Given the description of an element on the screen output the (x, y) to click on. 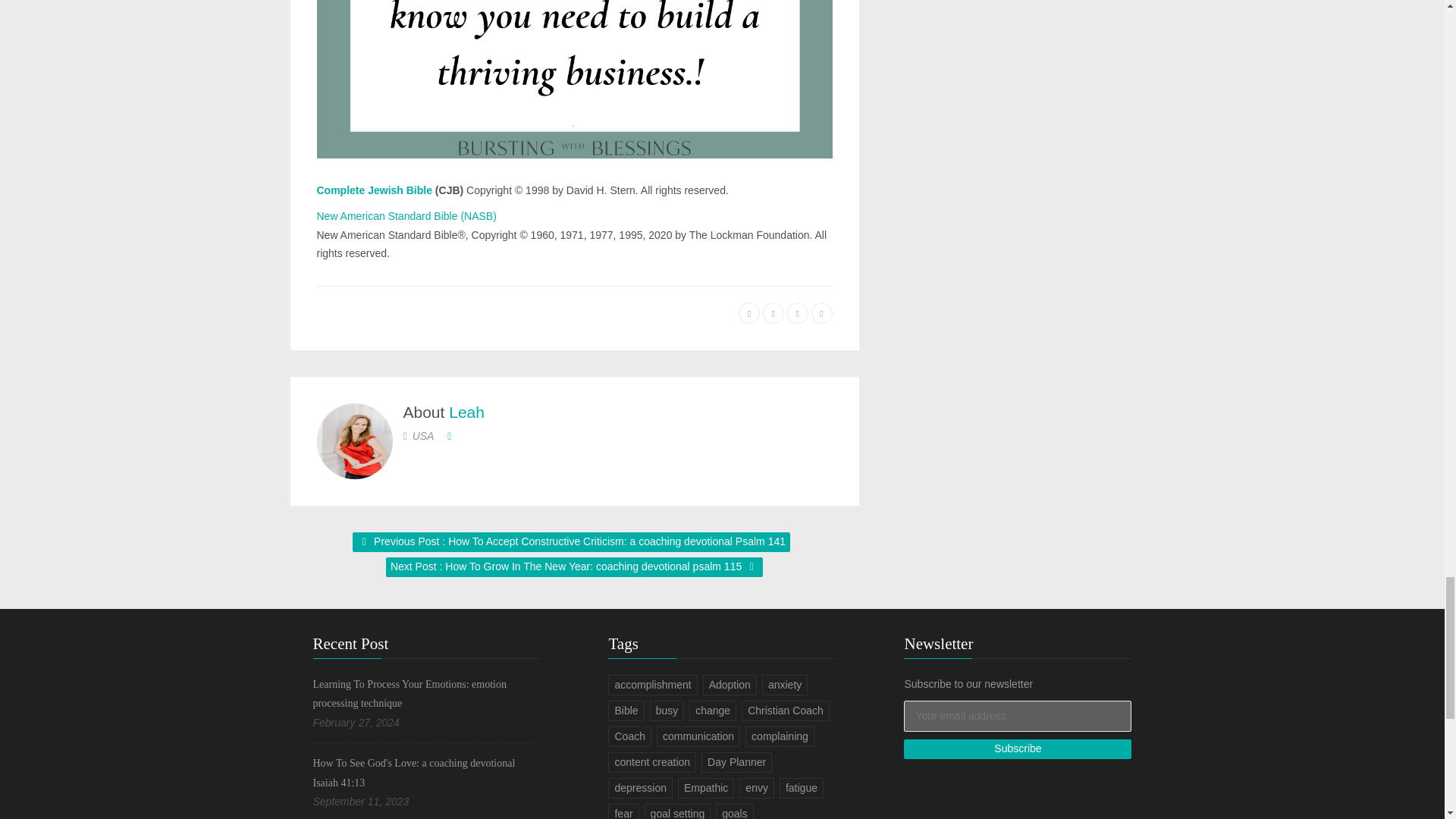
How To See God's Love: a coaching devotional Isaiah 41:13 (414, 772)
Leah (466, 411)
Complete Jewish Bible (374, 190)
